Given the description of an element on the screen output the (x, y) to click on. 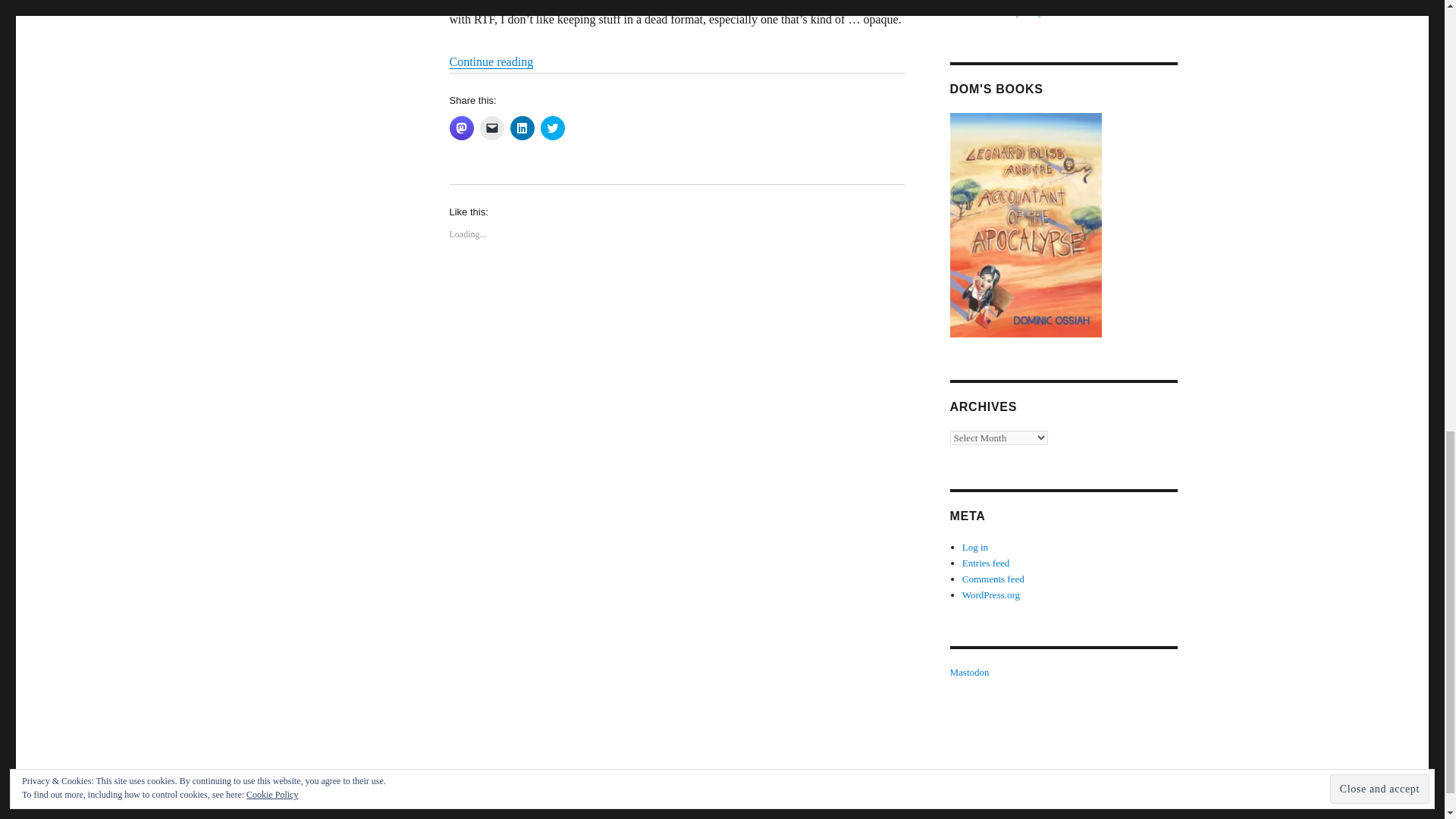
Click to email a link to a friend (491, 128)
Click to share on Mastodon (460, 128)
Click to share on Twitter (552, 128)
Click to share on LinkedIn (521, 128)
